Given the description of an element on the screen output the (x, y) to click on. 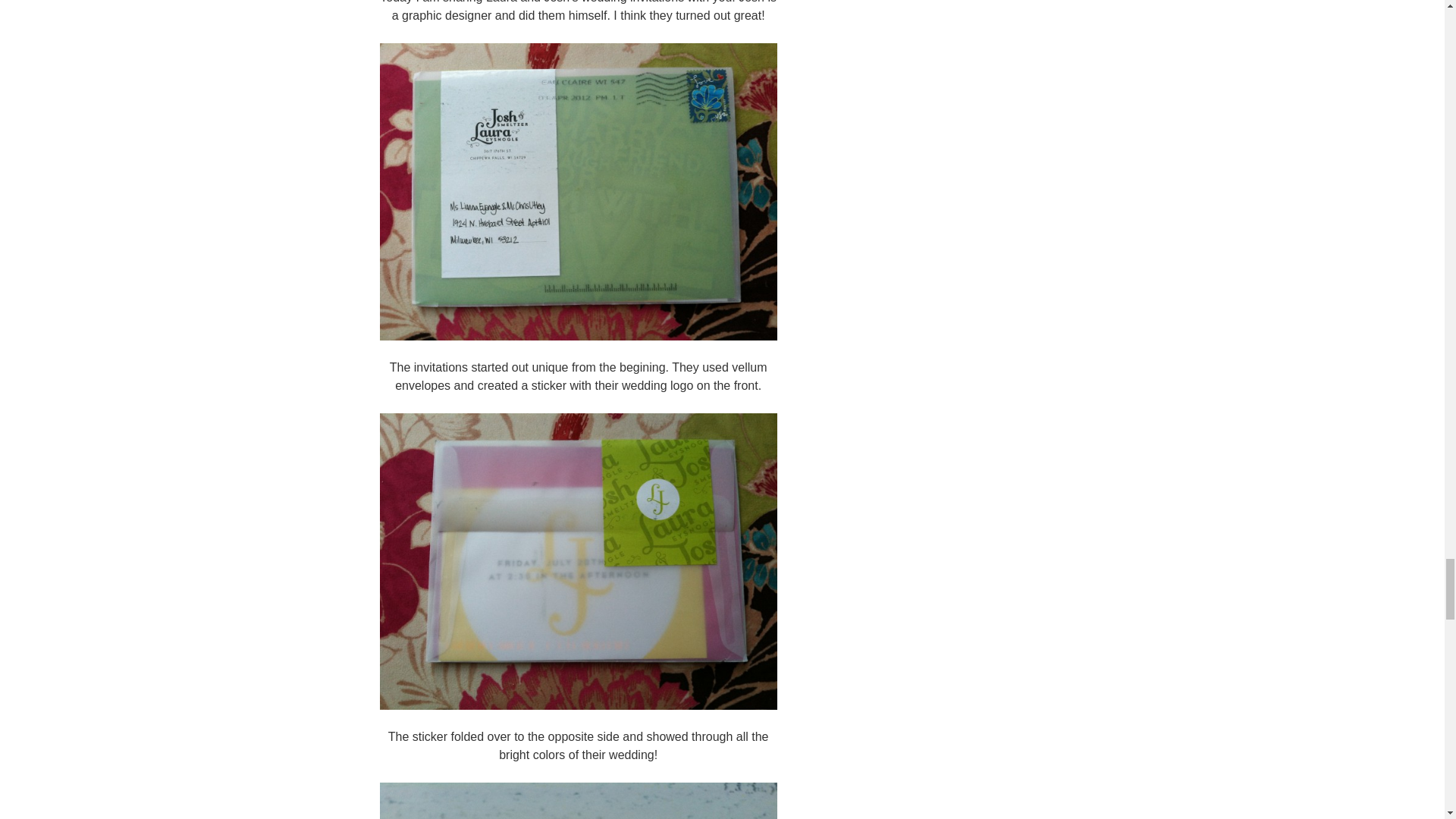
wedding logo (577, 800)
velum envelope with stricker (577, 191)
back of envelope (577, 561)
